Given the description of an element on the screen output the (x, y) to click on. 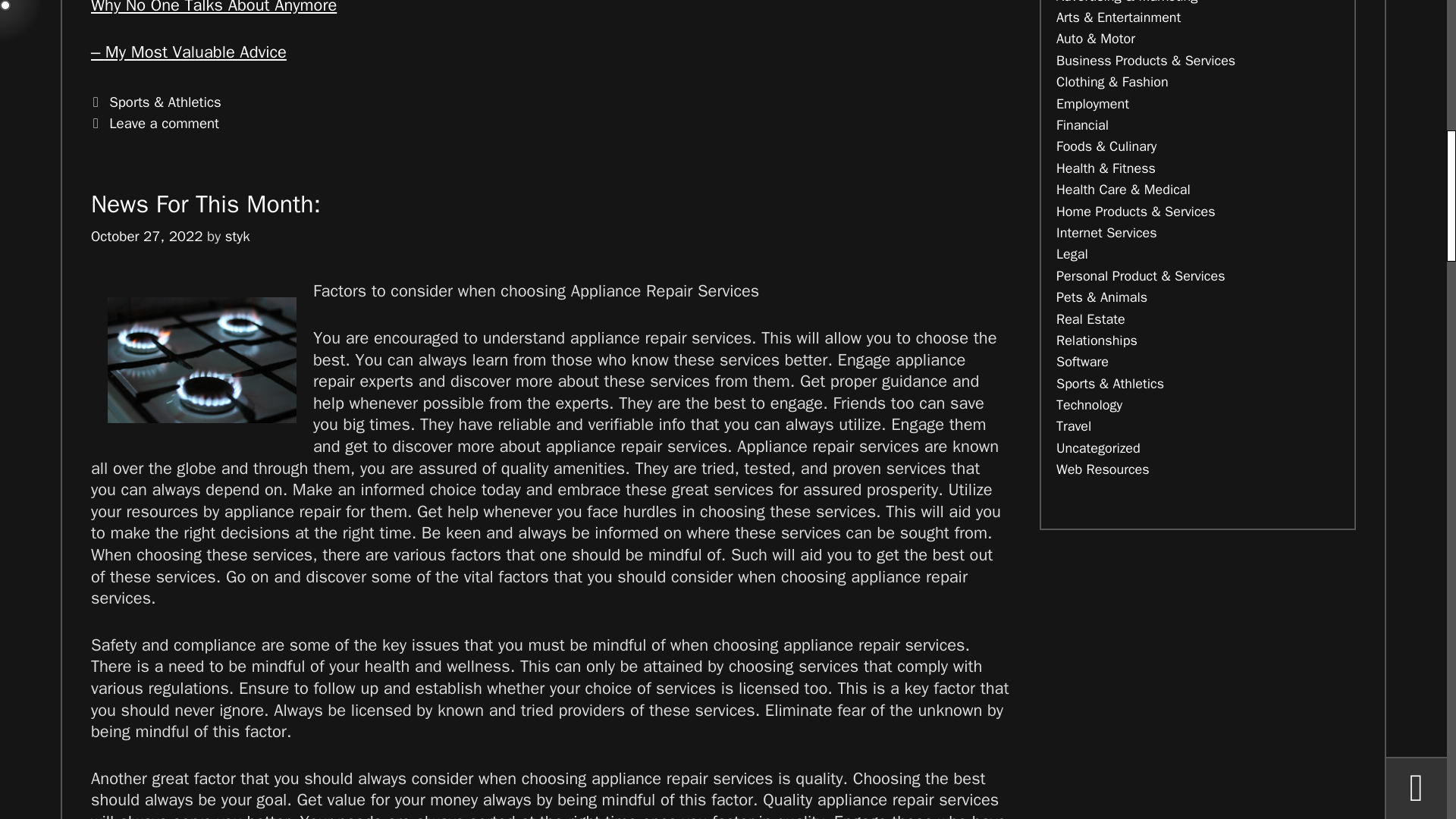
October 27, 2022 (146, 236)
News For This Month: (205, 204)
View all posts by styk (237, 236)
styk (237, 236)
Leave a comment (164, 123)
Why No One Talks About Anymore (213, 7)
4:36 am (146, 236)
